Given the description of an element on the screen output the (x, y) to click on. 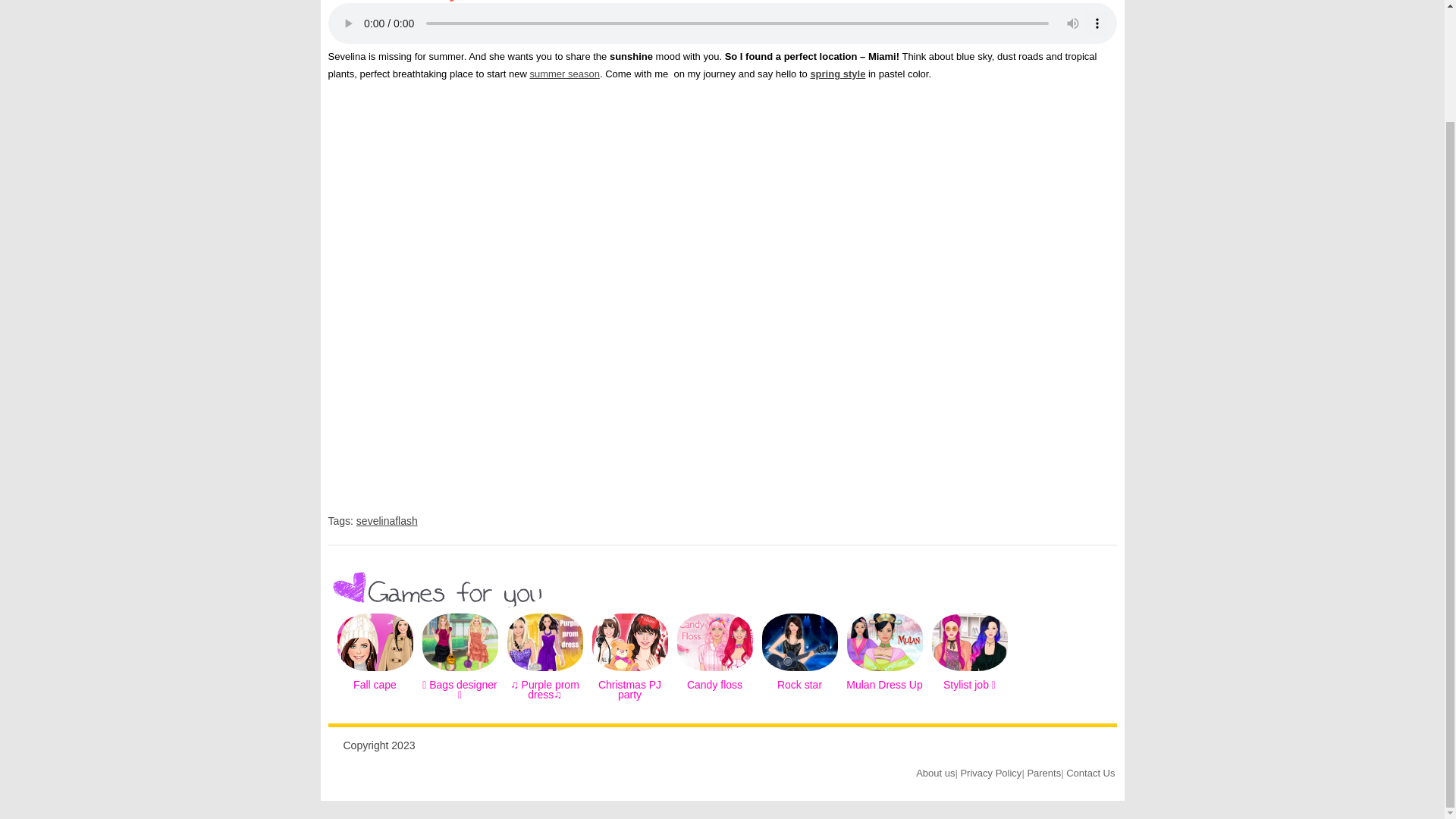
Candy floss (714, 684)
Christmas PJ party (628, 674)
Parents (1043, 772)
Fall cape (374, 684)
Christmas PJ party (629, 689)
Candy floss (714, 674)
Privacy Policy (990, 772)
Rock star (799, 674)
Fall cape (374, 684)
Rock star (799, 684)
